Given the description of an element on the screen output the (x, y) to click on. 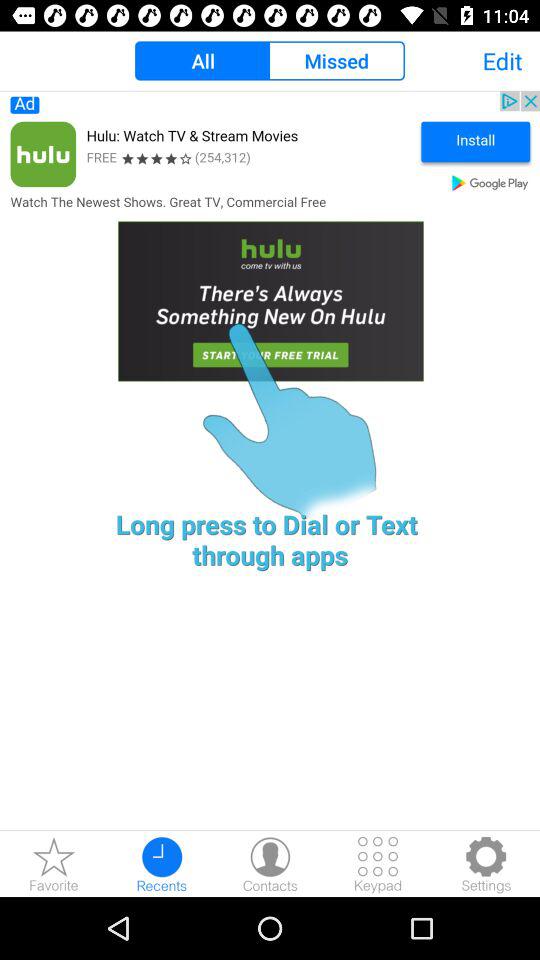
rate the app (53, 864)
